Given the description of an element on the screen output the (x, y) to click on. 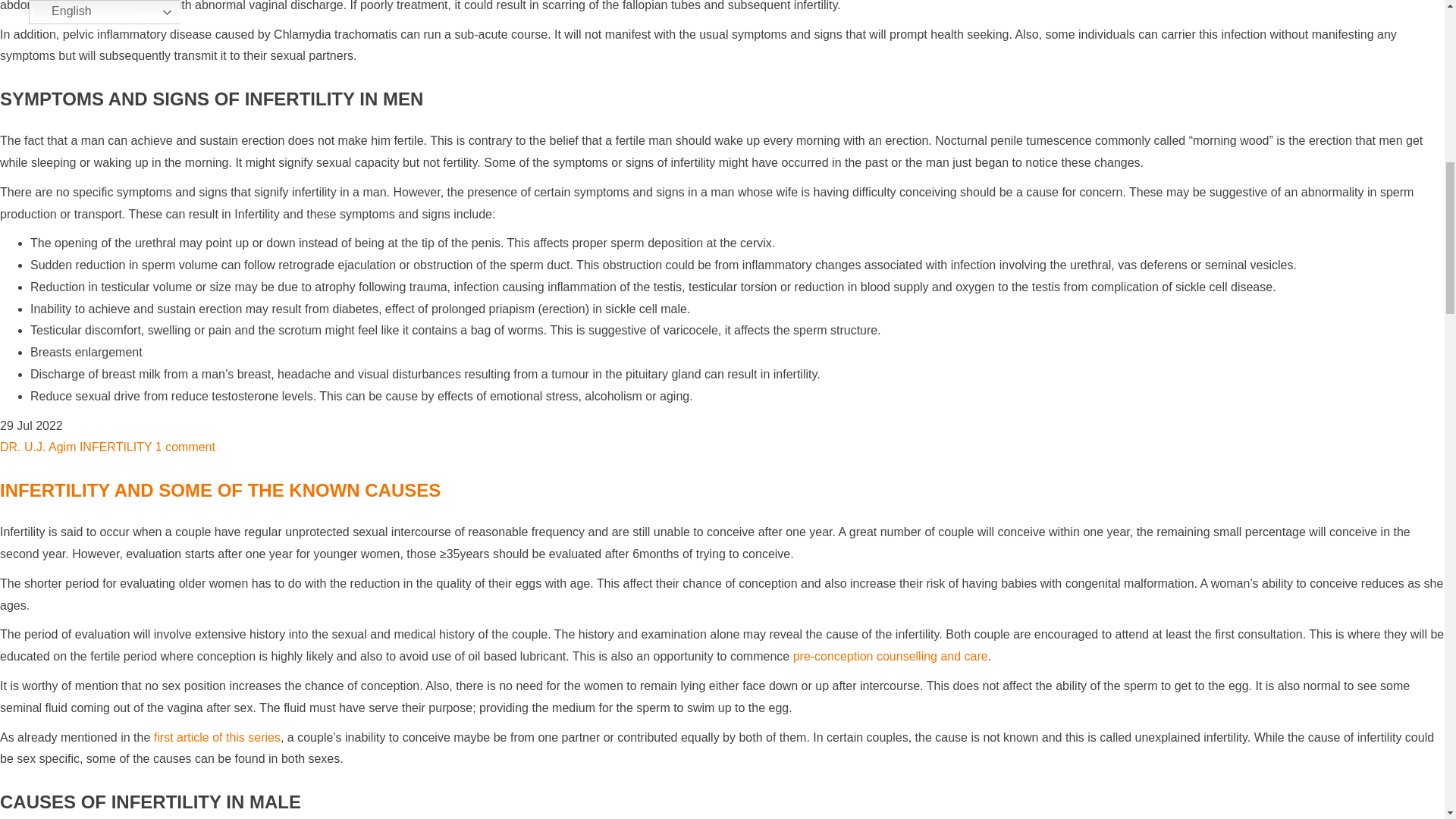
1 comment (185, 446)
first article of this series (217, 737)
INFERTILITY AND SOME OF THE KNOWN CAUSES (220, 489)
INFERTILITY (115, 446)
pre-conception counselling and care (890, 656)
DR. U.J. Agim (37, 446)
